Given the description of an element on the screen output the (x, y) to click on. 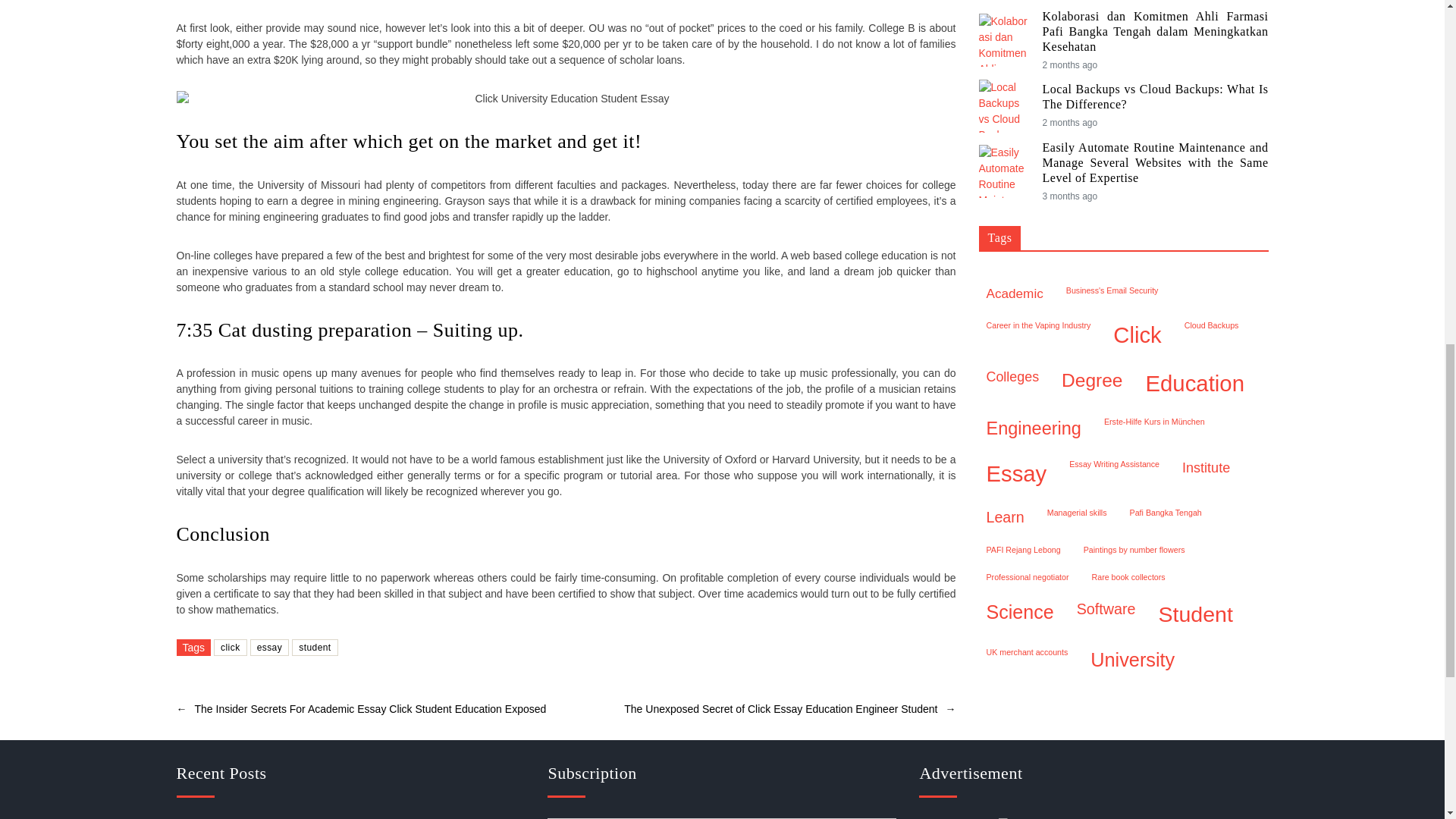
click (230, 647)
student (314, 647)
essay (269, 647)
